Given the description of an element on the screen output the (x, y) to click on. 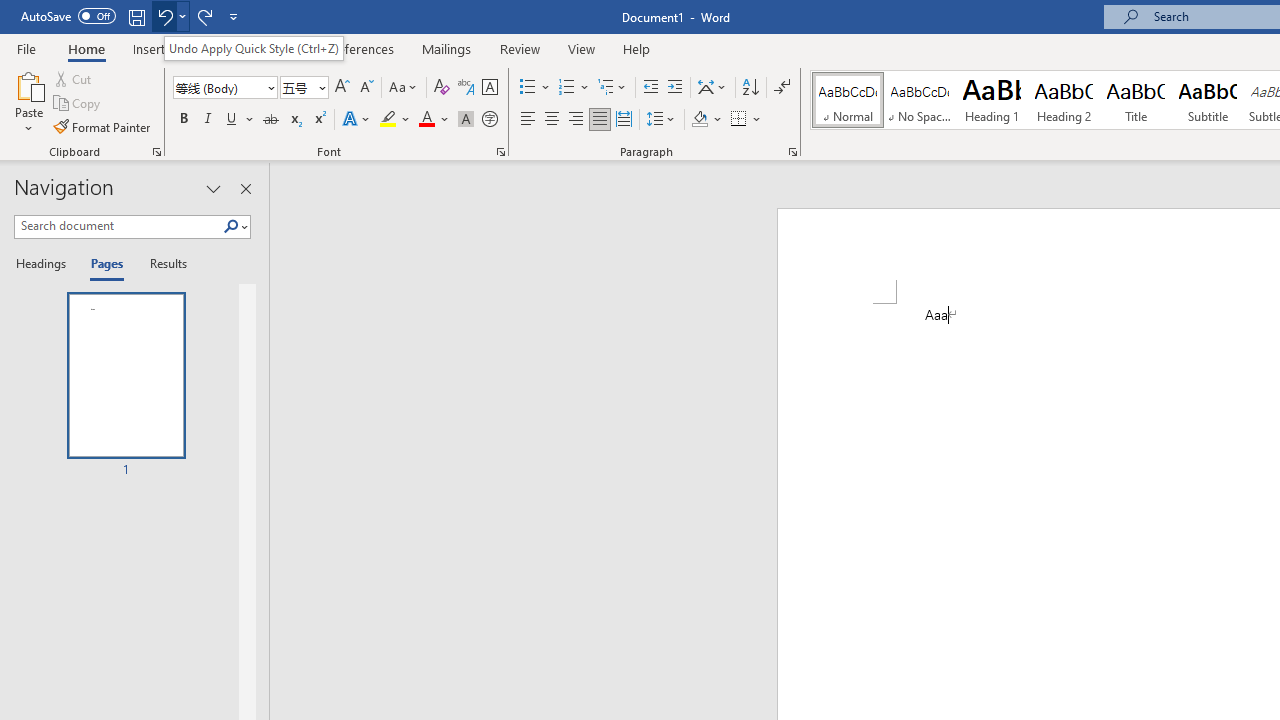
Redo Style (204, 15)
